Given the description of an element on the screen output the (x, y) to click on. 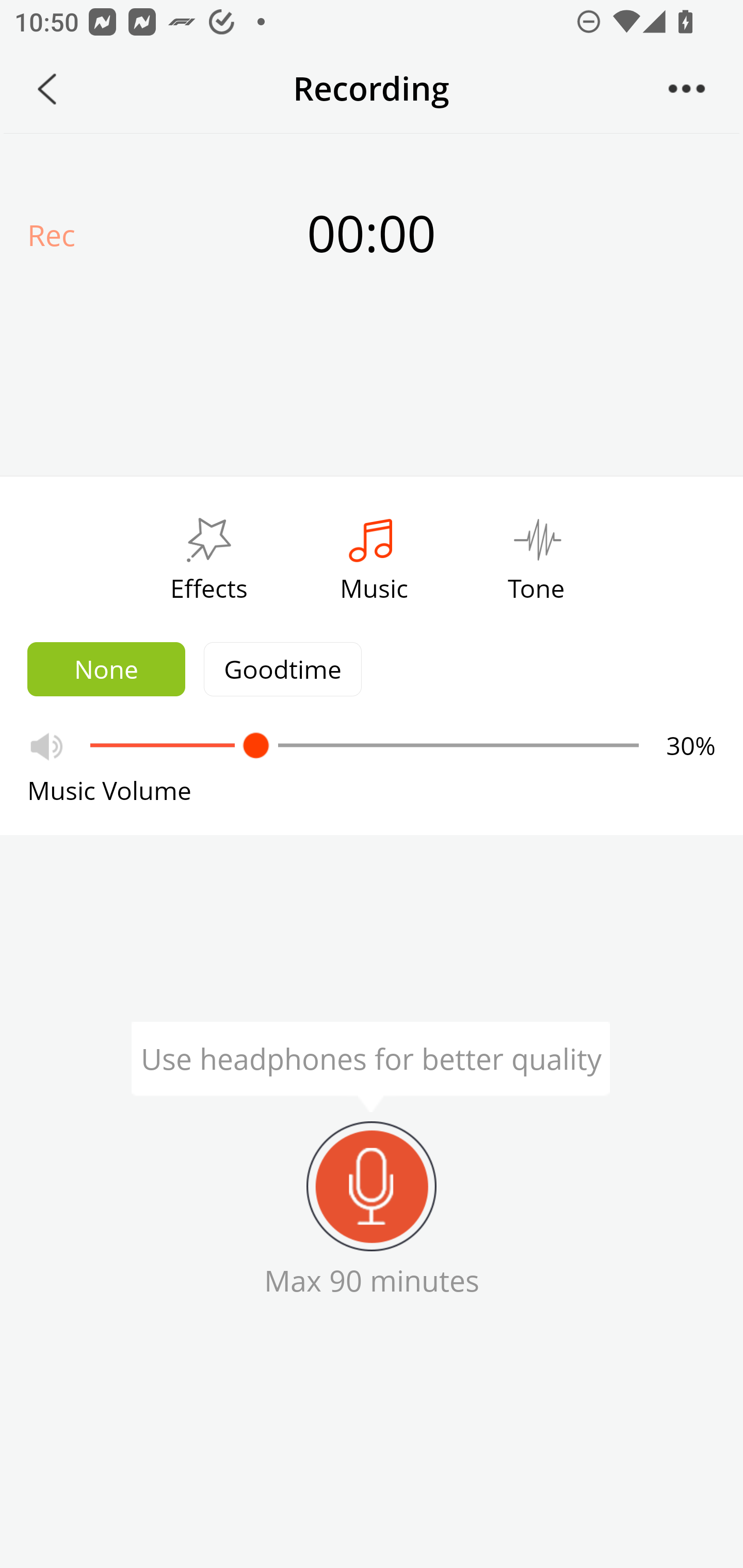
Back (46, 88)
Effects (208, 554)
Music (374, 554)
Tone (536, 554)
None (106, 669)
Goodtime (282, 669)
Recording (371, 1186)
